Given the description of an element on the screen output the (x, y) to click on. 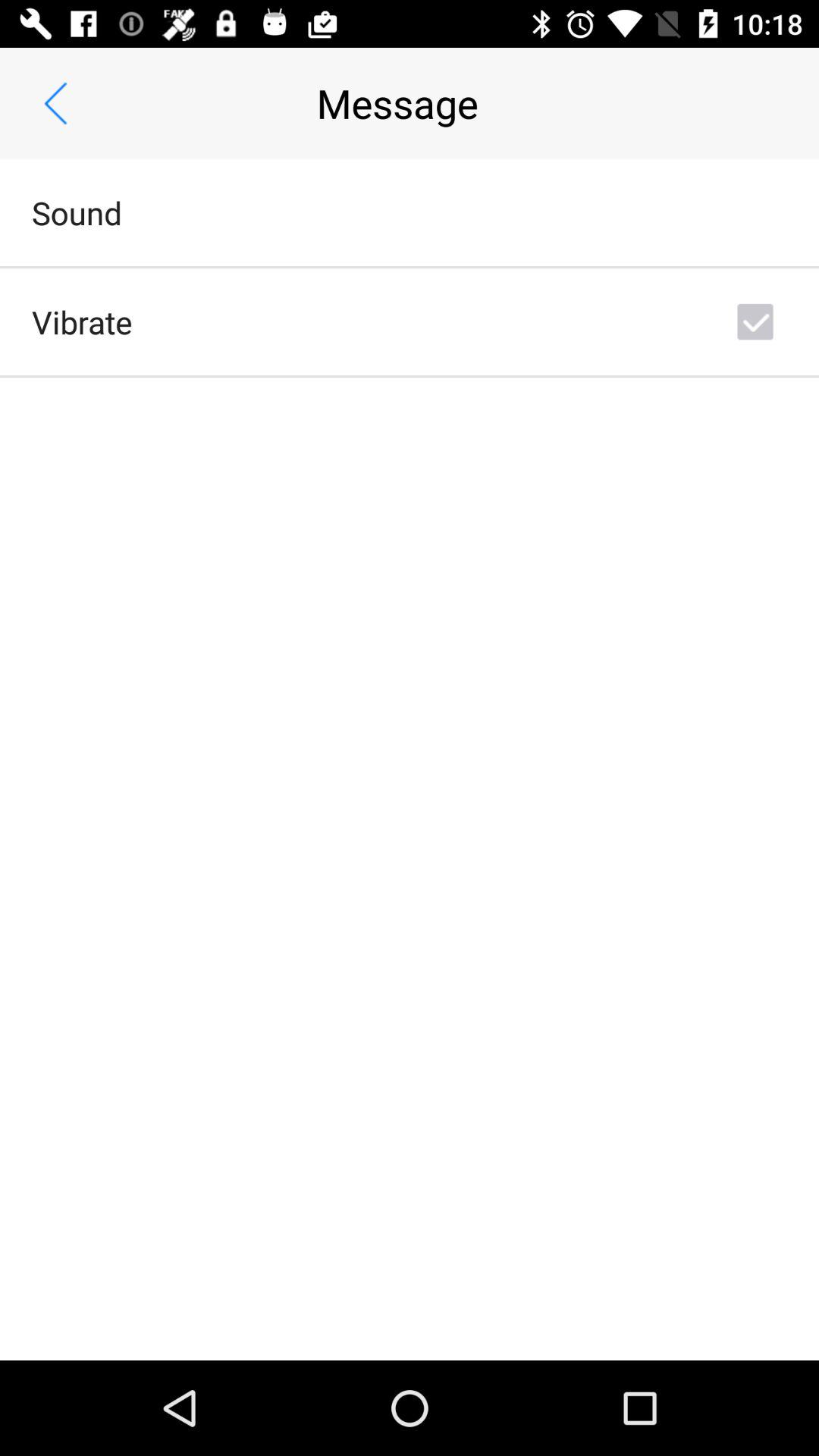
turn on the icon above the vibrate item (76, 212)
